Given the description of an element on the screen output the (x, y) to click on. 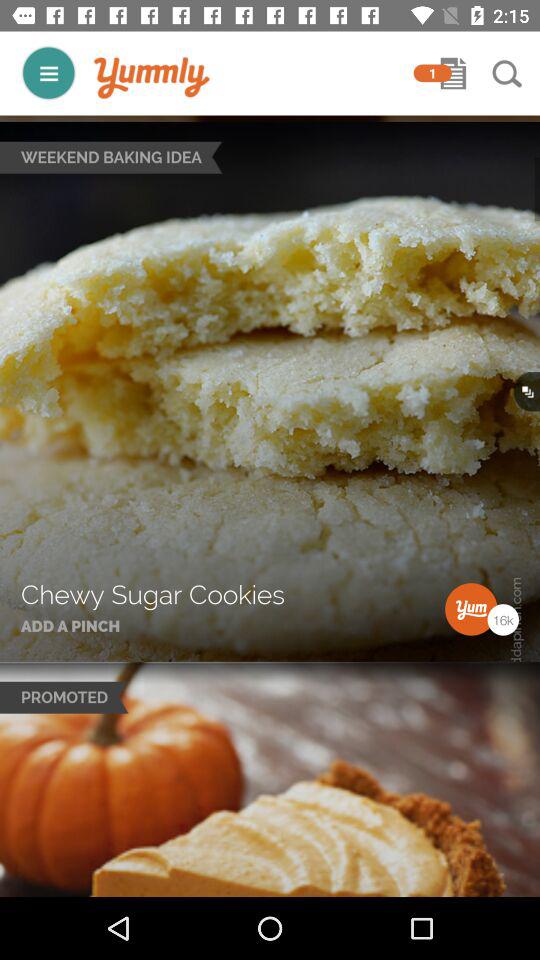
click on text 16k (503, 618)
click on 16 k in bottom (503, 618)
select text 1 right to yummly (432, 73)
select the button in the middle of the page (527, 390)
